Given the description of an element on the screen output the (x, y) to click on. 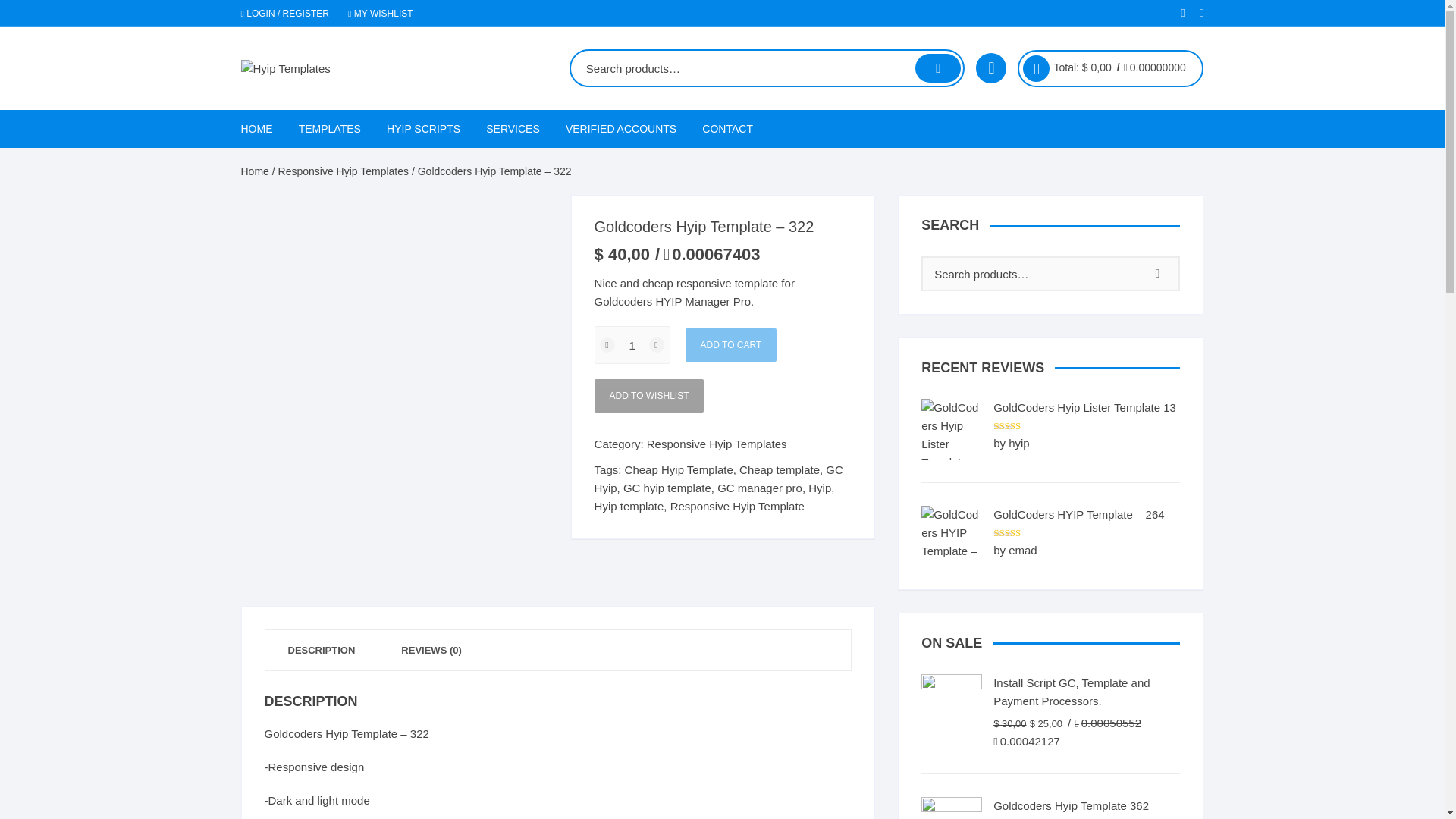
Responsive Templates (381, 202)
Cheap Templates (381, 238)
HOME (262, 128)
HYIP SCRIPTS (423, 128)
1 (631, 344)
SERVICES (512, 128)
CONTACT (727, 128)
MY WISHLIST (380, 13)
VERIFIED ACCOUNTS (620, 128)
TEMPLATES (329, 128)
